Given the description of an element on the screen output the (x, y) to click on. 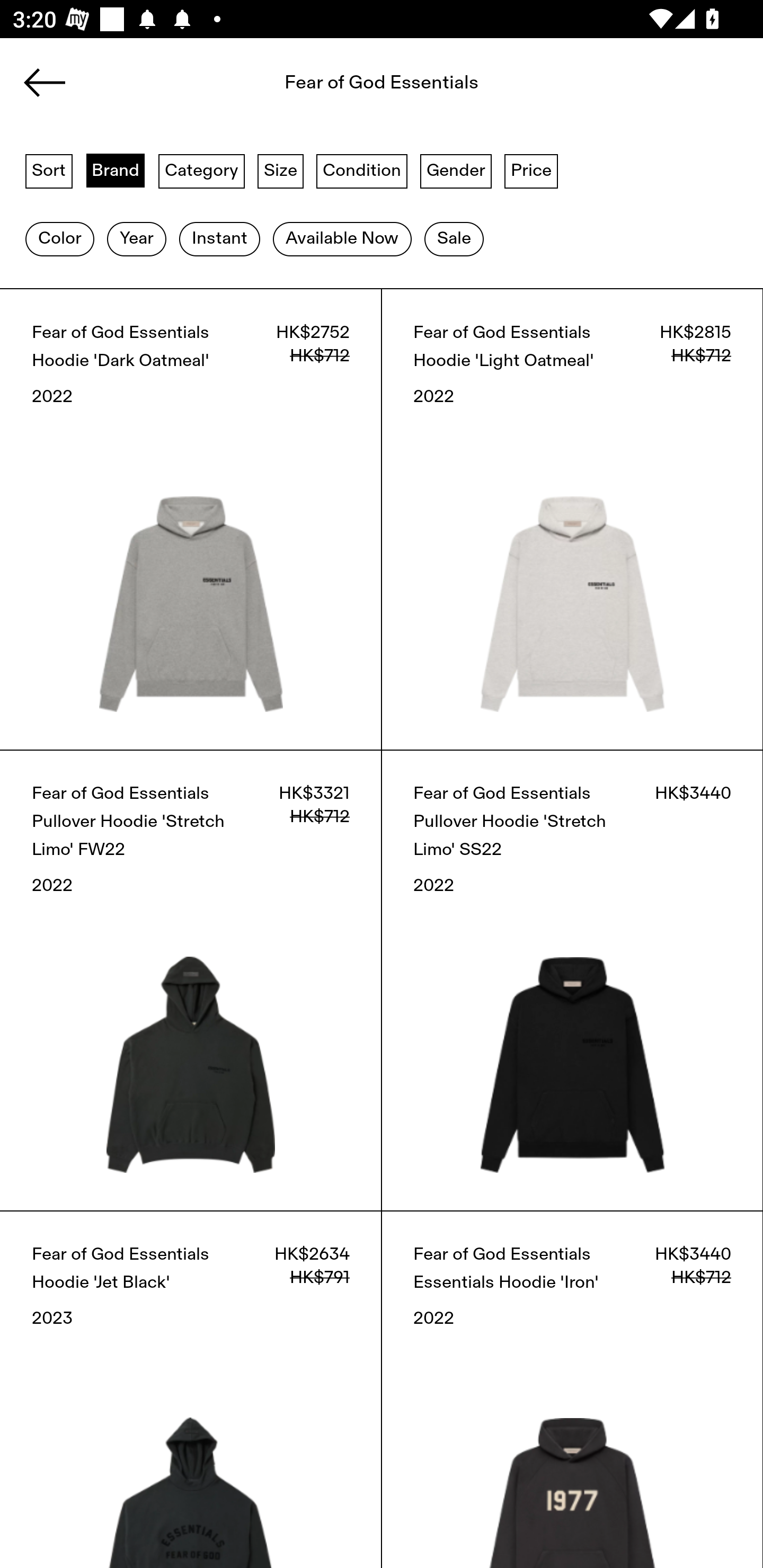
Sort (48, 170)
Brand (115, 170)
Category (201, 170)
Size (280, 170)
Condition (361, 170)
Gender (455, 170)
Price (530, 170)
Color (59, 239)
Year (136, 239)
Instant (219, 239)
Available Now (342, 239)
Sale (453, 239)
